Given the description of an element on the screen output the (x, y) to click on. 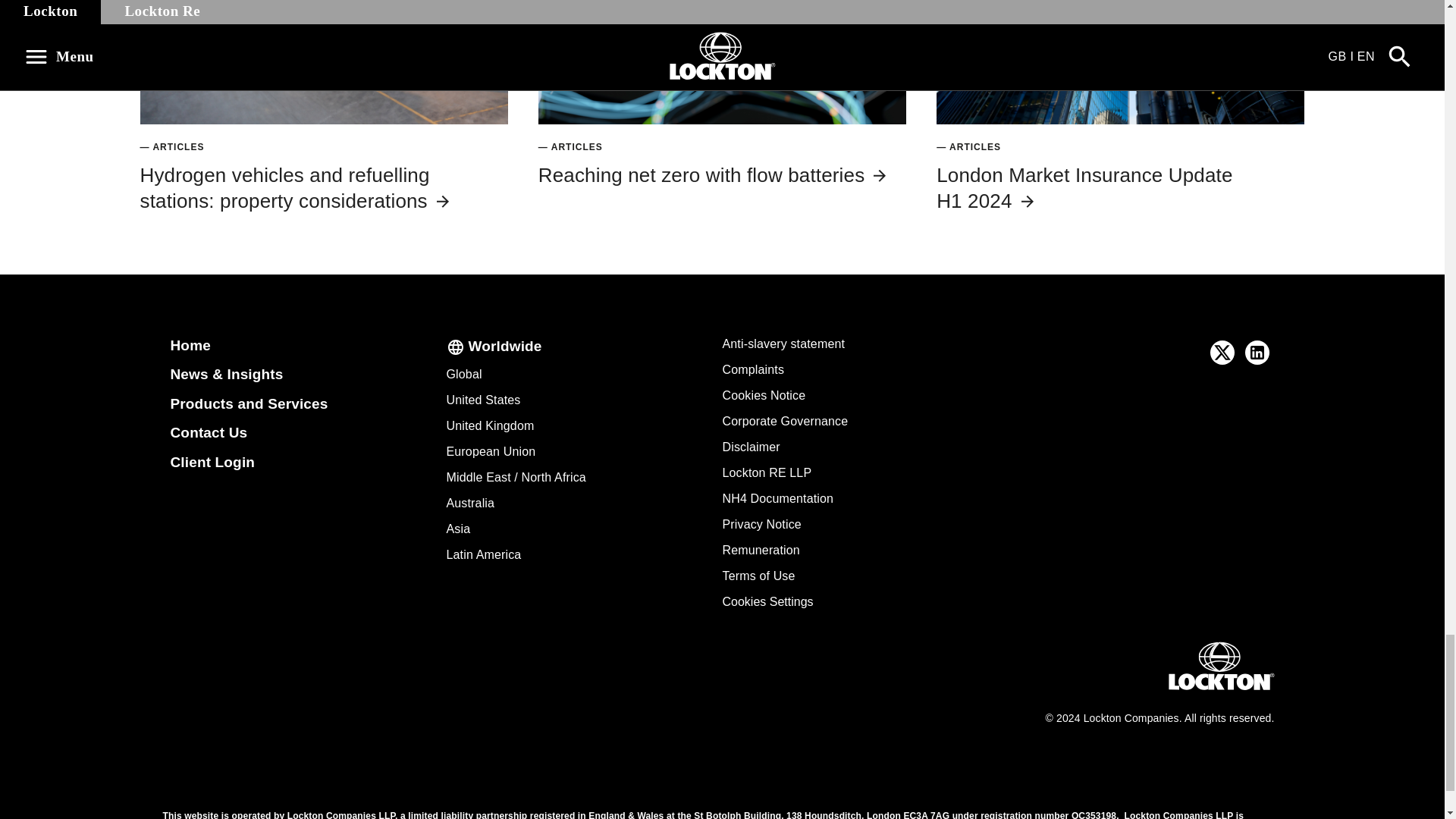
European Union (490, 451)
Follow Lockton on LinkedIn (1256, 352)
Asia (457, 528)
Products and Services (248, 403)
Contact Us (208, 432)
Corporate Governance (784, 420)
Australia (470, 502)
Complaints (753, 369)
United Kingdom (489, 425)
Anti-slavery statement (783, 343)
Home (189, 344)
Cookies Notice (763, 395)
Reaching net zero with flow batteries (713, 174)
Client Login (212, 462)
